Given the description of an element on the screen output the (x, y) to click on. 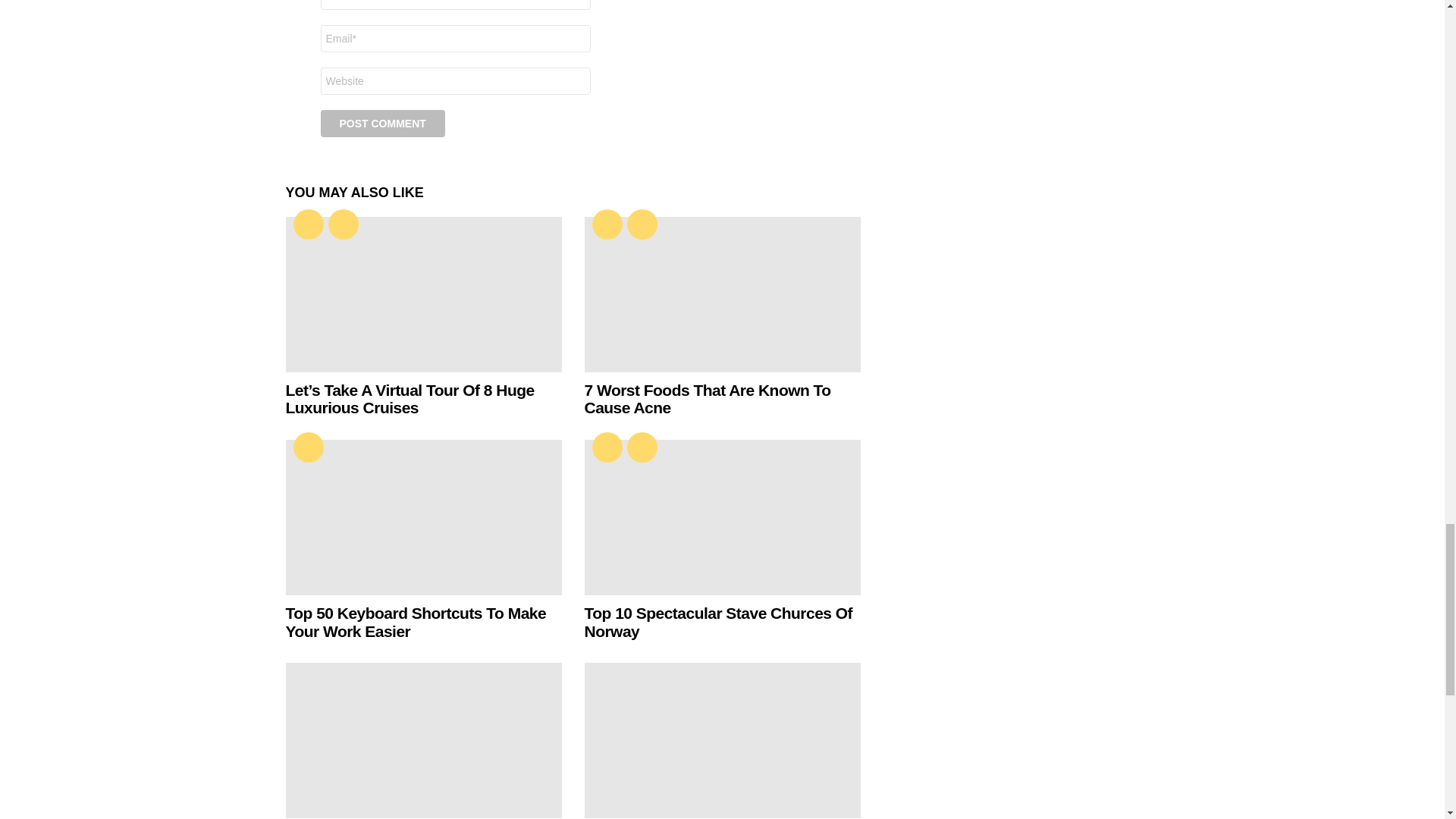
Post Comment (382, 123)
LOL (342, 224)
Love (307, 224)
7 Worst Foods That Are Known To Cause Acne (721, 294)
